Given the description of an element on the screen output the (x, y) to click on. 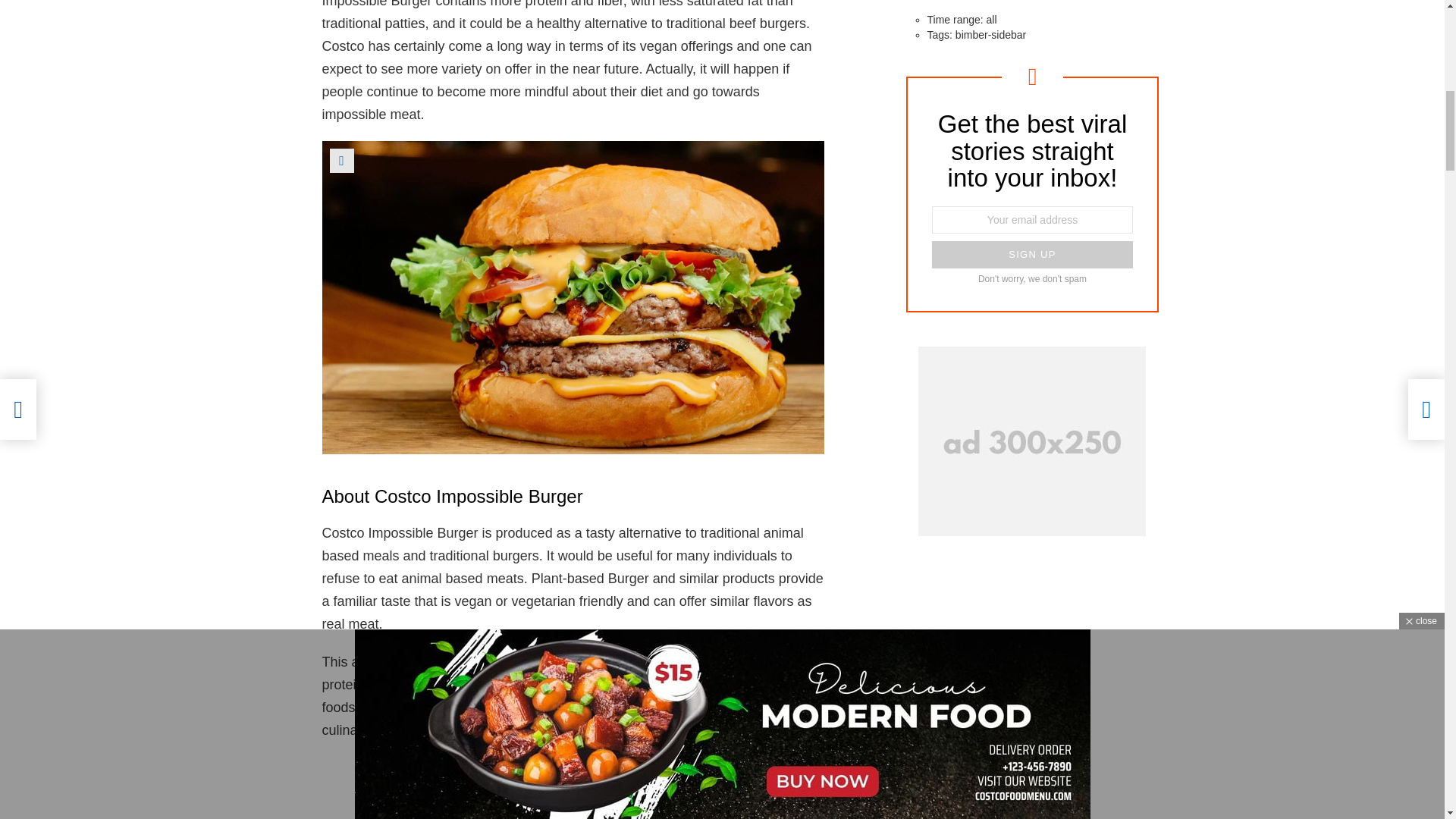
Sign up (1031, 254)
